Given the description of an element on the screen output the (x, y) to click on. 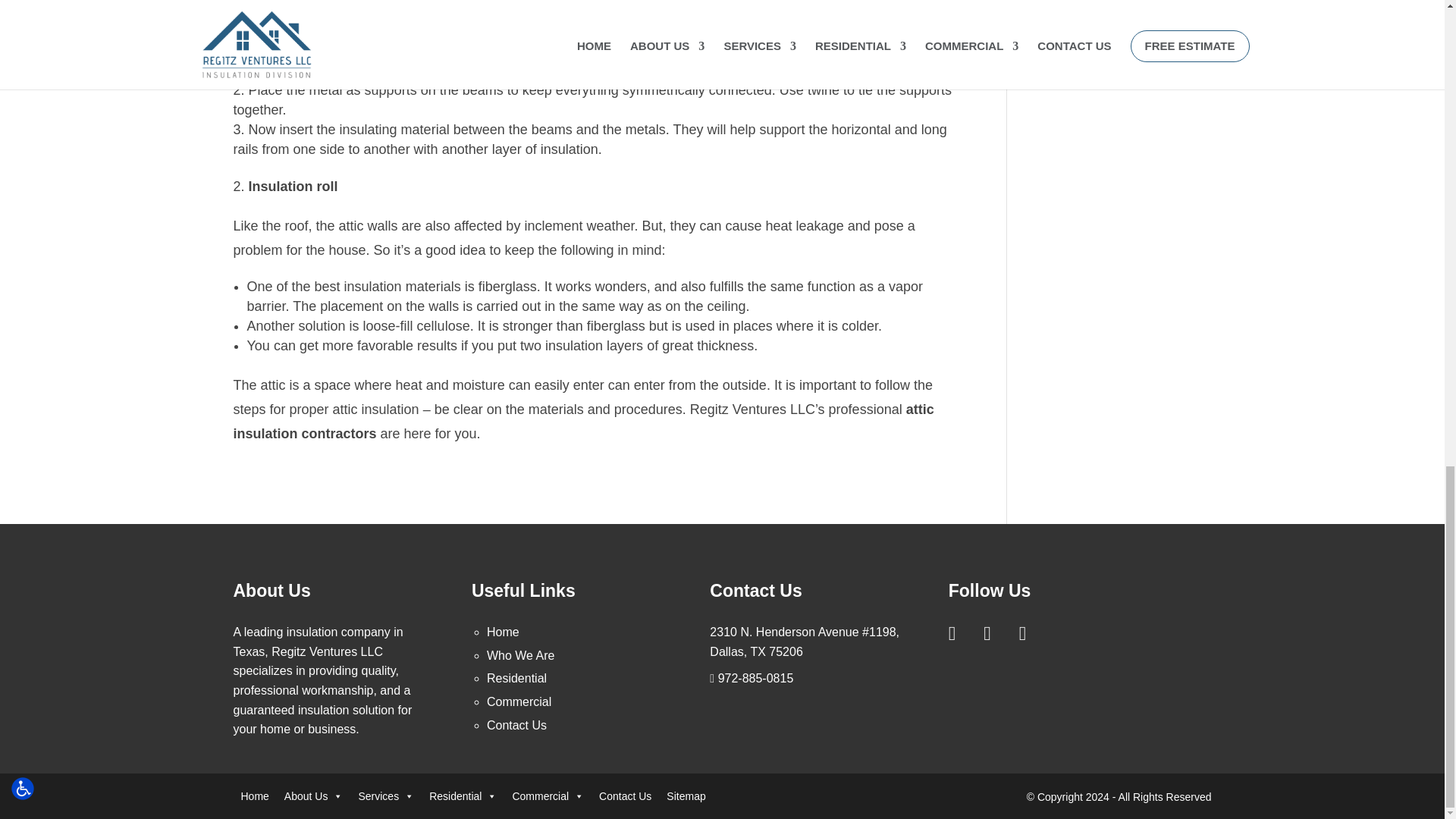
Follow Us (962, 633)
Follow Us (1032, 633)
Follow Us (997, 633)
